Given the description of an element on the screen output the (x, y) to click on. 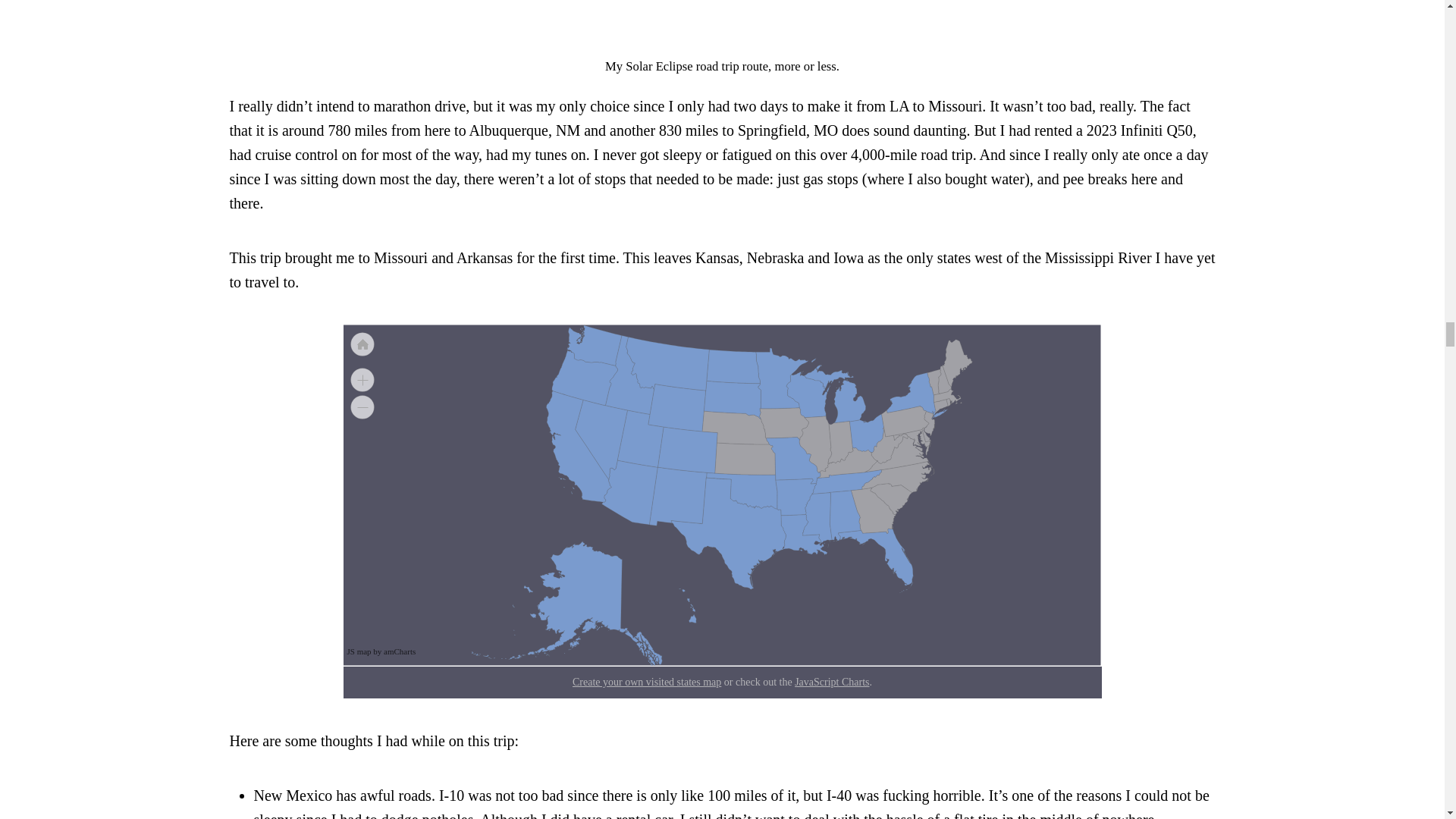
Interactive JavaScript maps (381, 651)
